Given the description of an element on the screen output the (x, y) to click on. 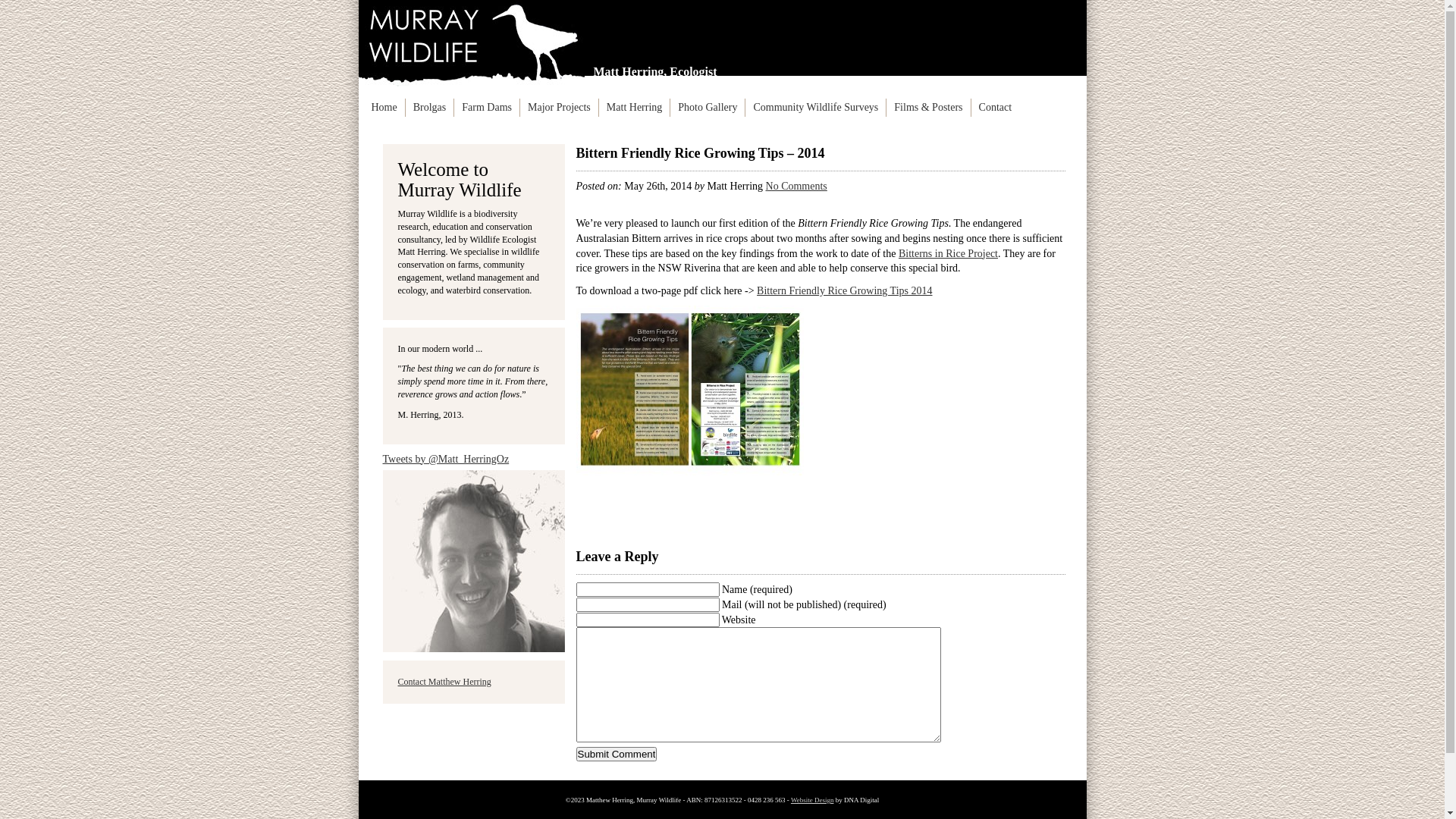
Farm Dams Element type: text (486, 107)
No Comments Element type: text (796, 185)
Submit Comment Element type: text (616, 753)
Tweets by @Matt_HerringOz Element type: text (445, 458)
Contact Matthew Herring Element type: text (443, 681)
Photo Gallery Element type: text (707, 107)
Matt Herring Element type: text (634, 107)
Major Projects Element type: text (559, 107)
Home Element type: text (384, 107)
Films & Posters Element type: text (927, 107)
Website Design Element type: text (812, 799)
Contact Element type: text (995, 107)
Bittern Friendly Rice Growing Tips 2014 Element type: text (843, 290)
Community Wildlife Surveys Element type: text (815, 107)
Bitterns in Rice Project Element type: text (947, 253)
Brolgas Element type: text (429, 107)
